Given the description of an element on the screen output the (x, y) to click on. 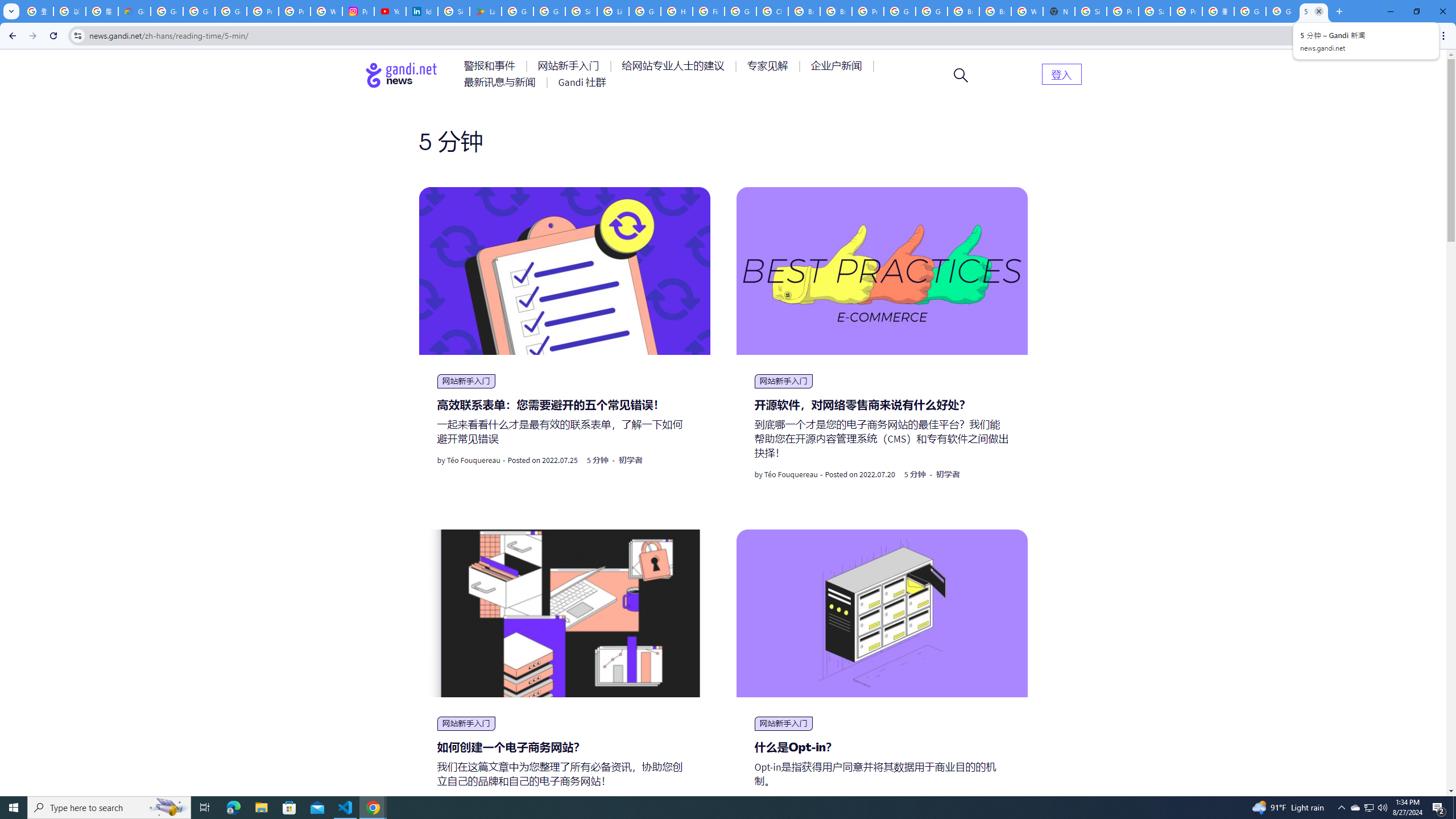
YouTube Culture & Trends - On The Rise: Handcam Videos (389, 11)
How do I create a new Google Account? - Google Account Help (676, 11)
Sign in - Google Accounts (1091, 11)
